Given the description of an element on the screen output the (x, y) to click on. 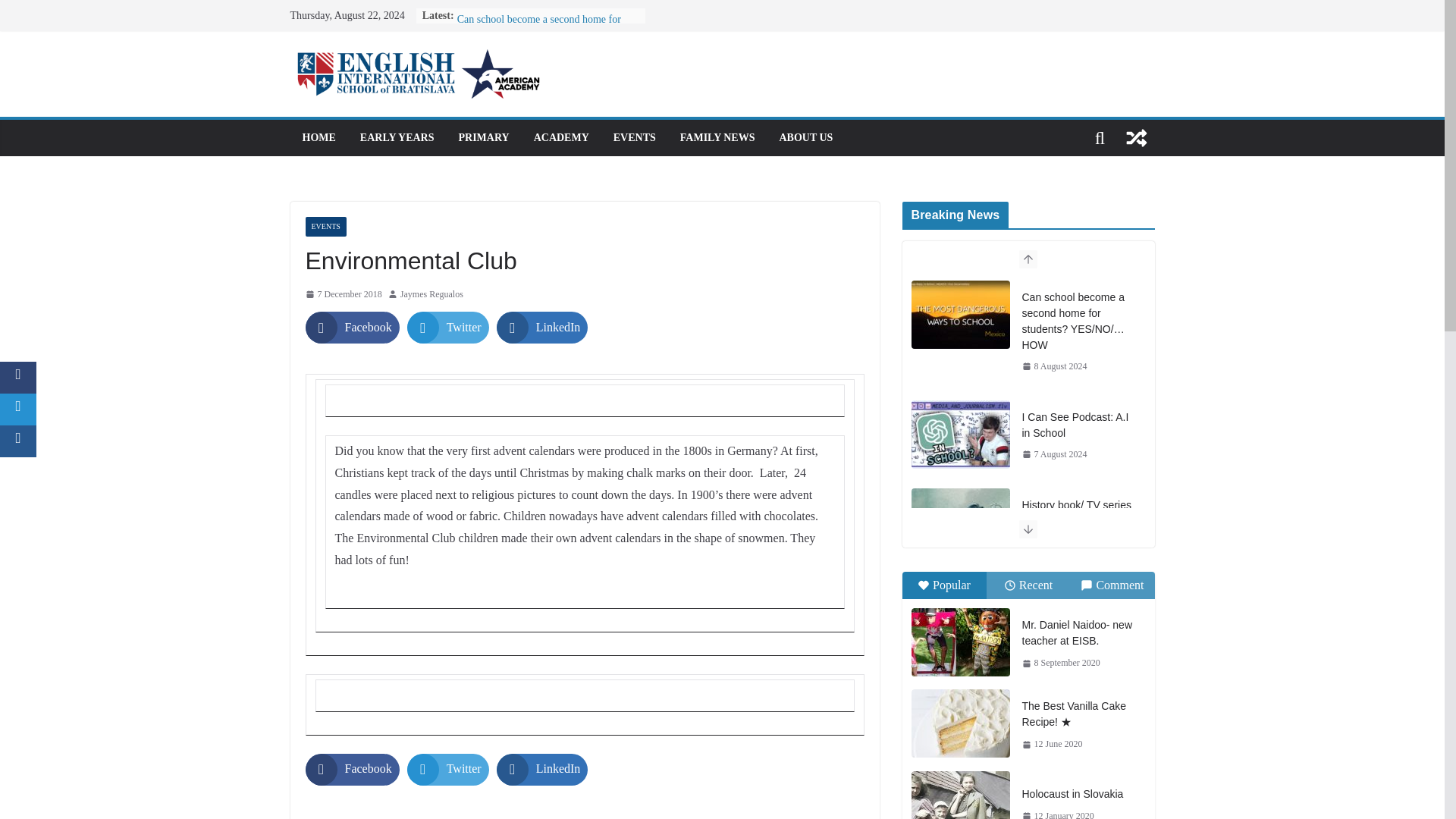
Twitter (448, 327)
7 December 2018 (342, 294)
06:55 (342, 294)
PRIMARY (483, 137)
FAMILY NEWS (717, 137)
EARLY YEARS (396, 137)
View a random post (1136, 137)
LinkedIn (542, 327)
Facebook (351, 769)
ABOUT US (805, 137)
